Given the description of an element on the screen output the (x, y) to click on. 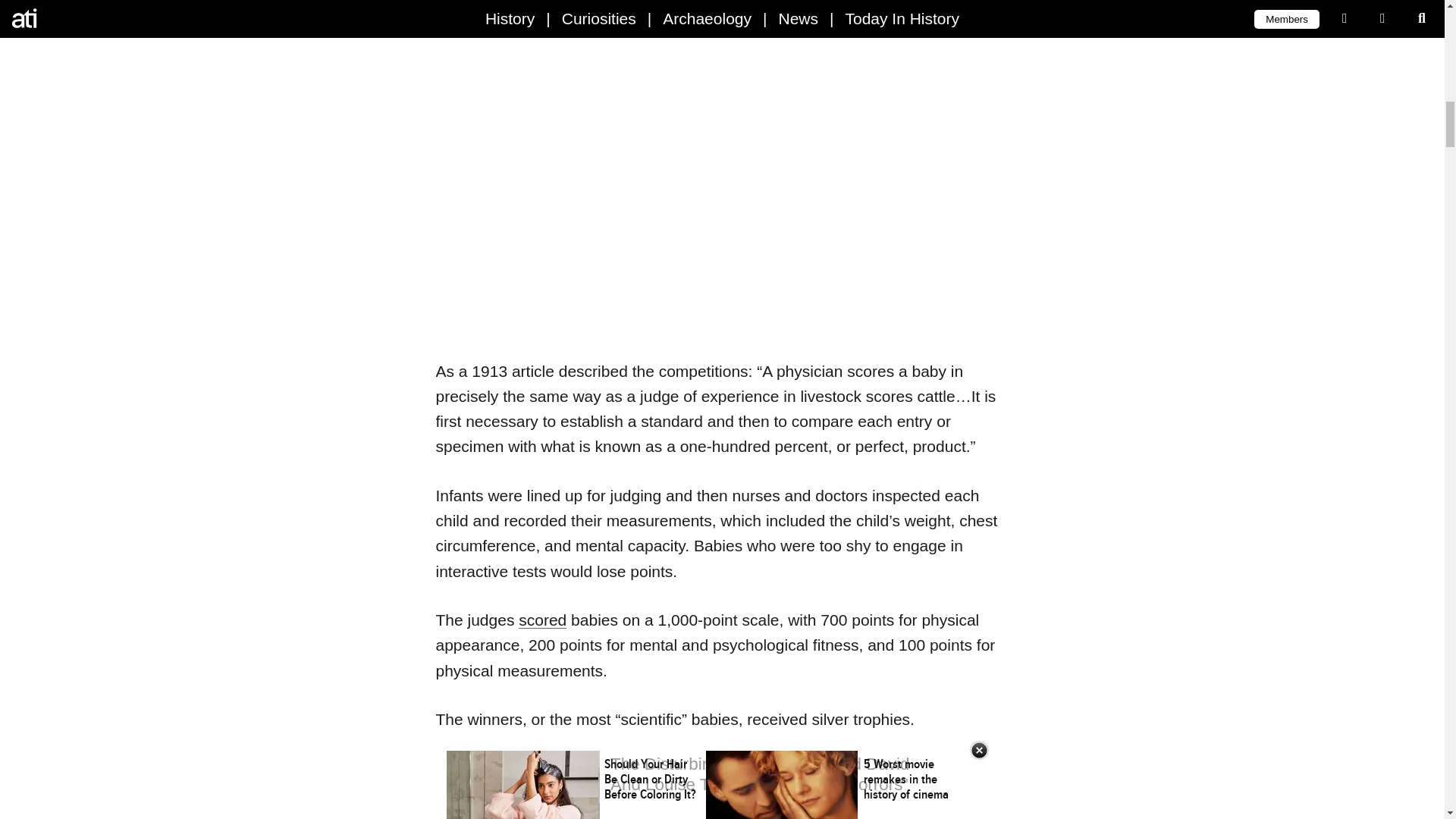
scored (542, 619)
held the first (713, 25)
